Given the description of an element on the screen output the (x, y) to click on. 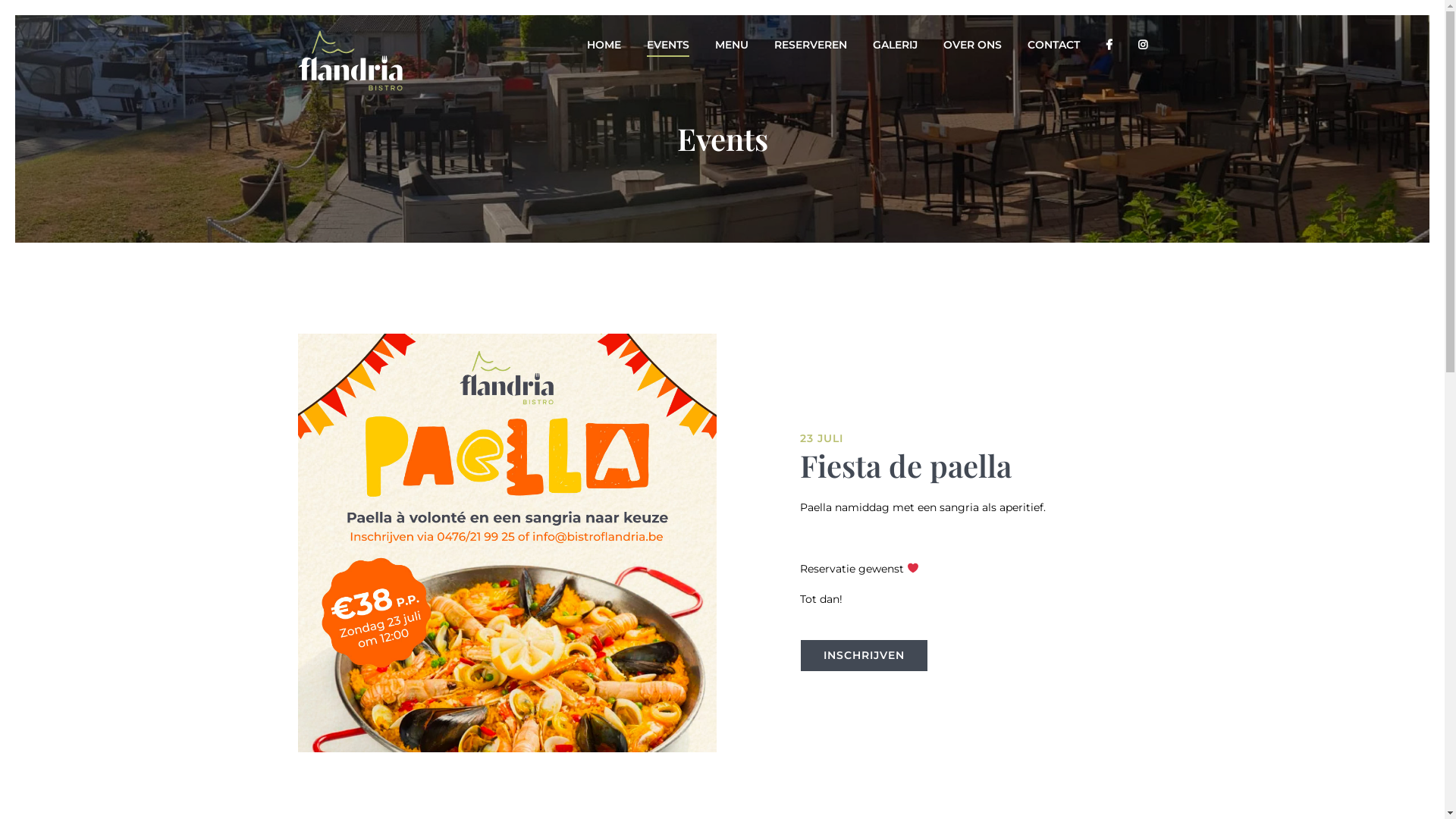
OVER ONS Element type: text (972, 44)
INSCHRIJVEN Element type: text (864, 655)
HOME Element type: text (603, 44)
CONTACT Element type: text (1052, 44)
EVENTS Element type: text (667, 44)
RESERVEREN Element type: text (809, 44)
GALERIJ Element type: text (894, 44)
MENU Element type: text (730, 44)
